Given the description of an element on the screen output the (x, y) to click on. 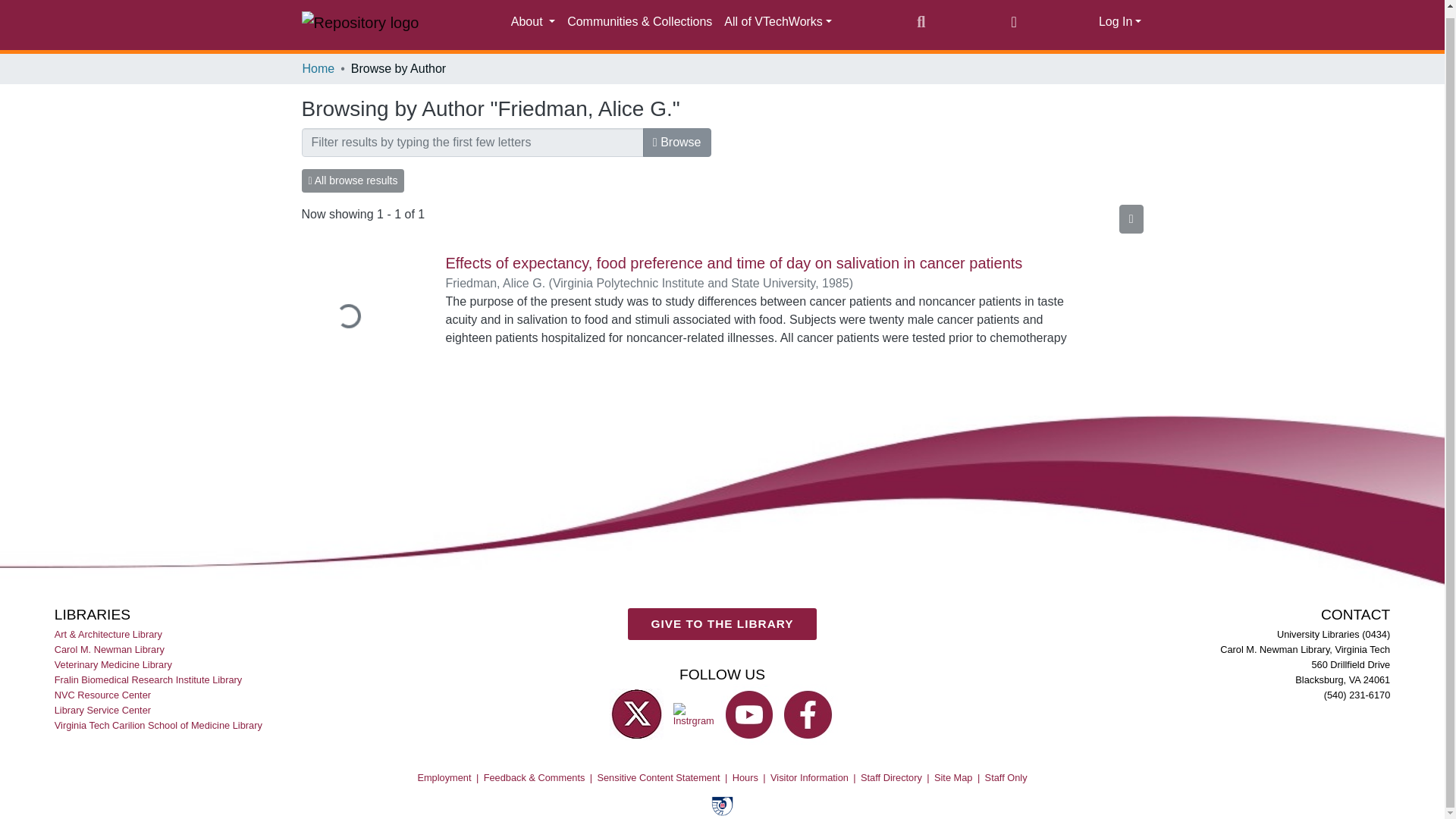
Search (920, 22)
About (532, 21)
All browse results (352, 180)
Home (317, 68)
Log In (1119, 21)
Language switch (1013, 22)
All of VTechWorks (777, 21)
Browse (677, 142)
